Given the description of an element on the screen output the (x, y) to click on. 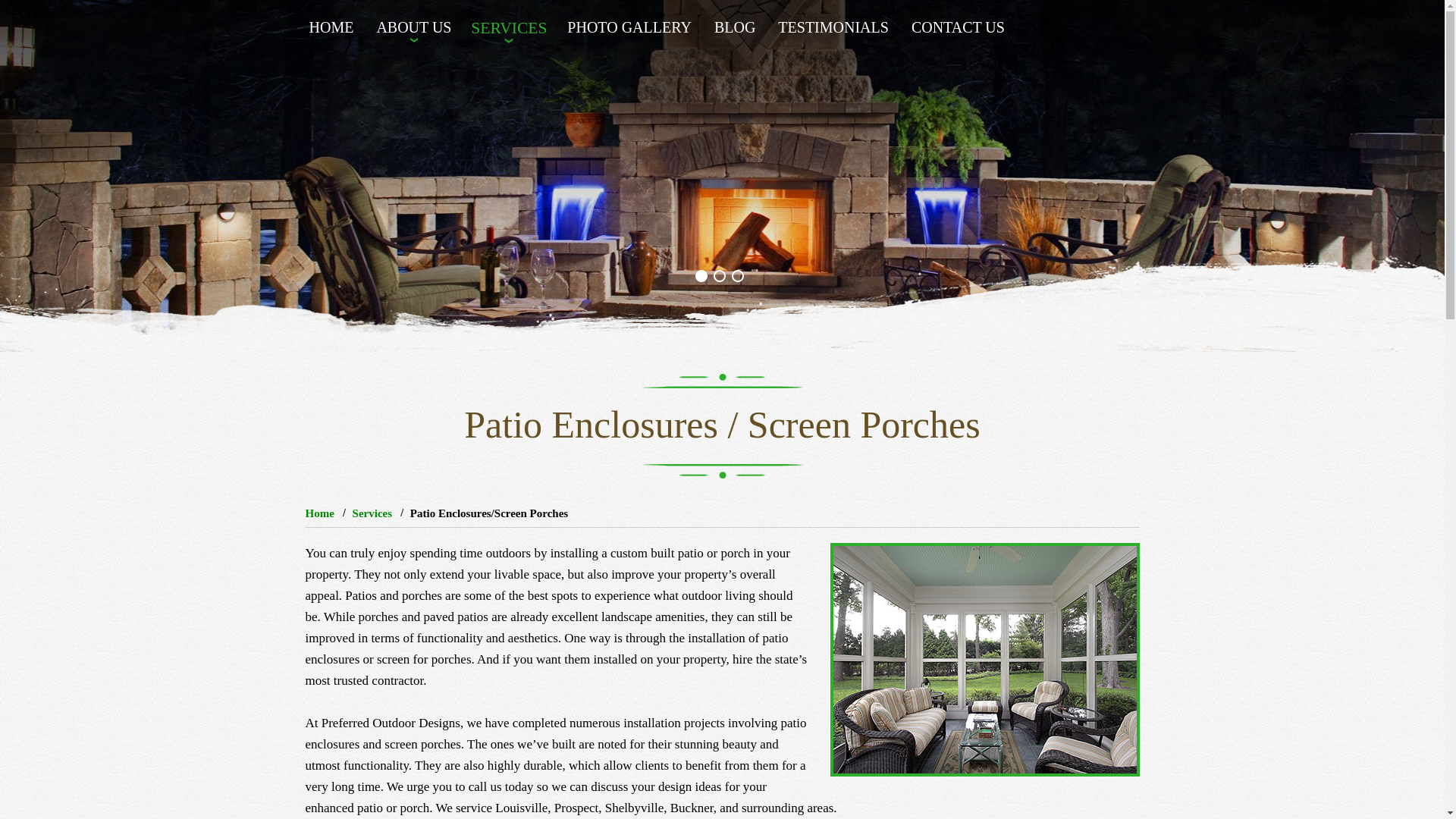
SERVICES (506, 22)
PHOTO GALLERY (629, 23)
ABOUT US (414, 23)
BLOG (735, 23)
HOME (334, 23)
TESTIMONIALS (833, 23)
CONTACT US (957, 23)
Patio Pavers, Louisville, KY (983, 659)
